Given the description of an element on the screen output the (x, y) to click on. 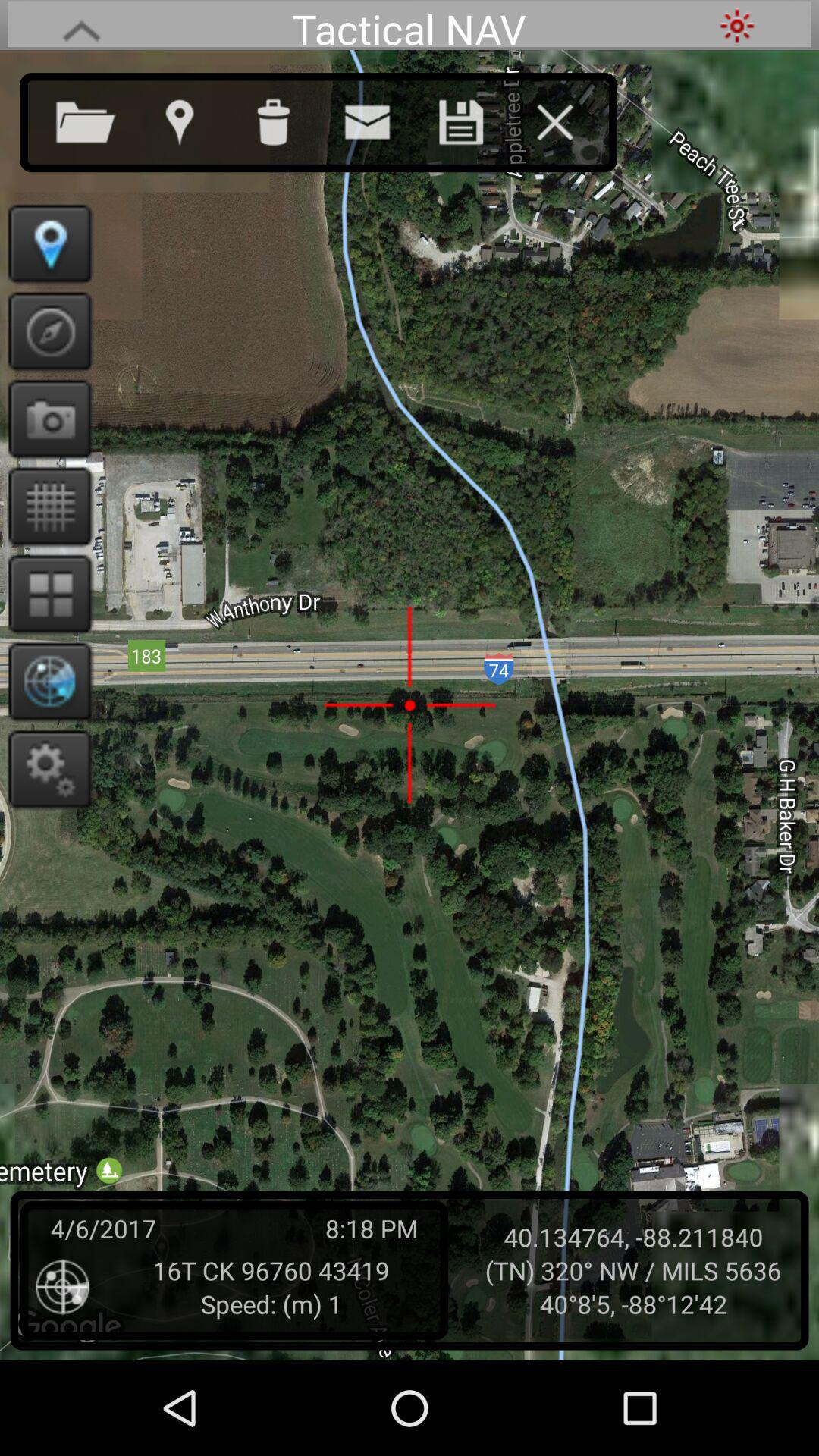
point to north (45, 330)
